Given the description of an element on the screen output the (x, y) to click on. 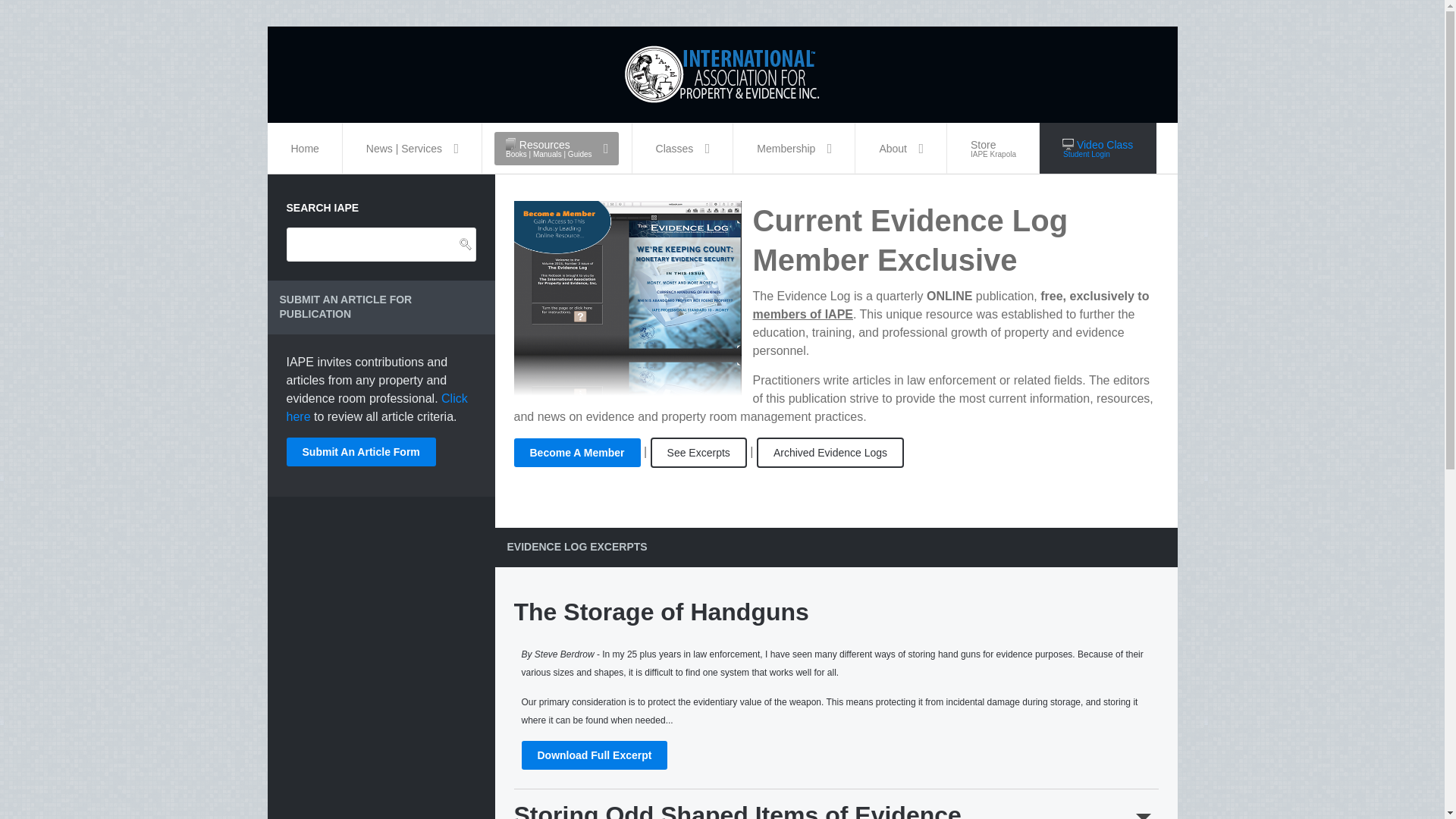
Classes (683, 147)
Home (304, 147)
About (901, 147)
Membership (793, 147)
